Given the description of an element on the screen output the (x, y) to click on. 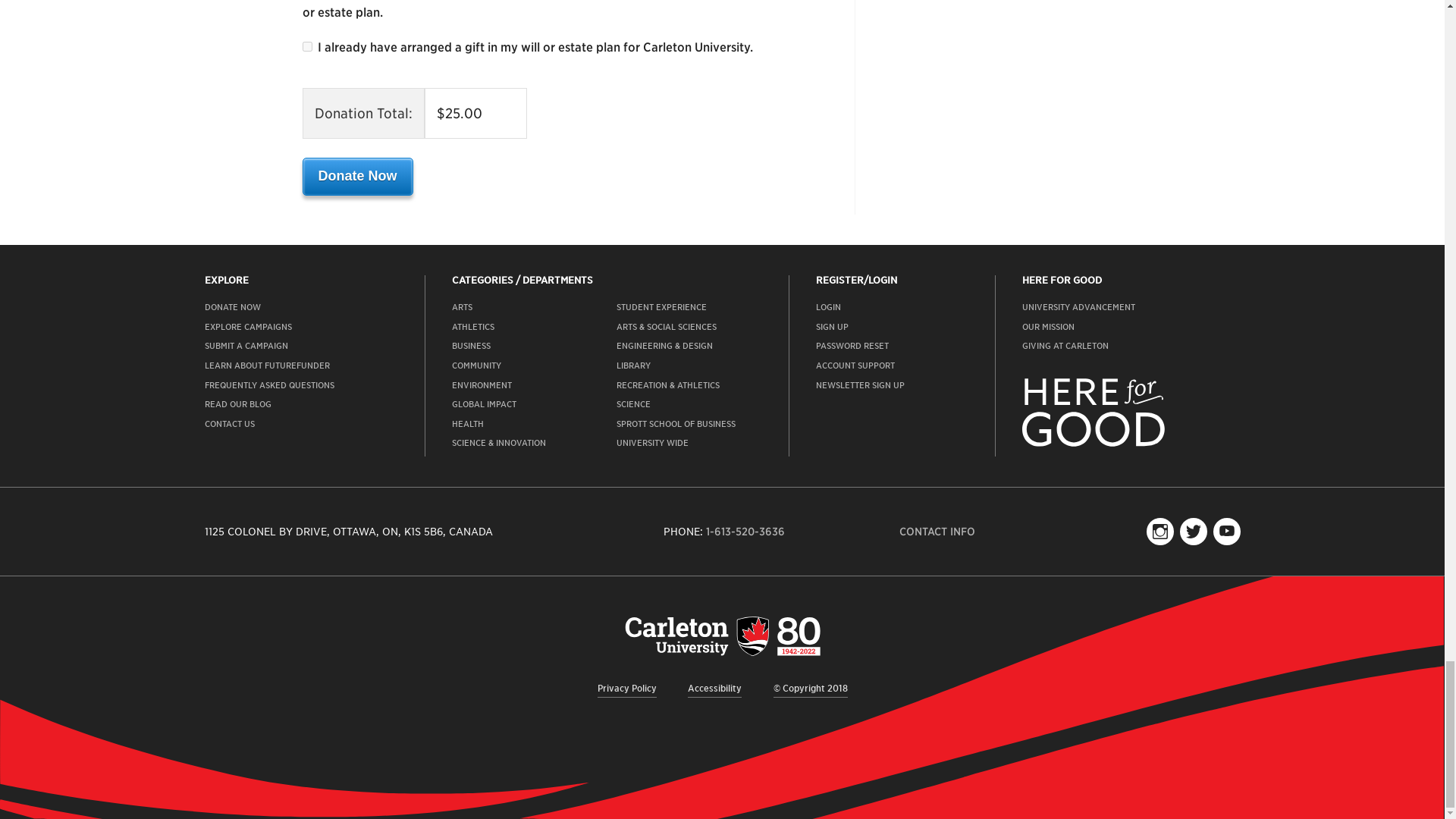
GLOBAL IMPACT (483, 403)
COMMUNITY (475, 365)
STUDENT EXPERIENCE (660, 307)
SUBMIT A CAMPAIGN (246, 345)
EXPLORE CAMPAIGNS (248, 326)
CONTACT US (229, 423)
READ OUR BLOG (237, 403)
ARTS (461, 307)
BUSINESS (470, 345)
DONATE NOW (232, 307)
HEALTH (467, 423)
ENVIRONMENT (481, 385)
FREQUENTLY ASKED QUESTIONS (269, 385)
LEARN ABOUT FUTUREFUNDER (267, 365)
Donate Now (356, 176)
